Given the description of an element on the screen output the (x, y) to click on. 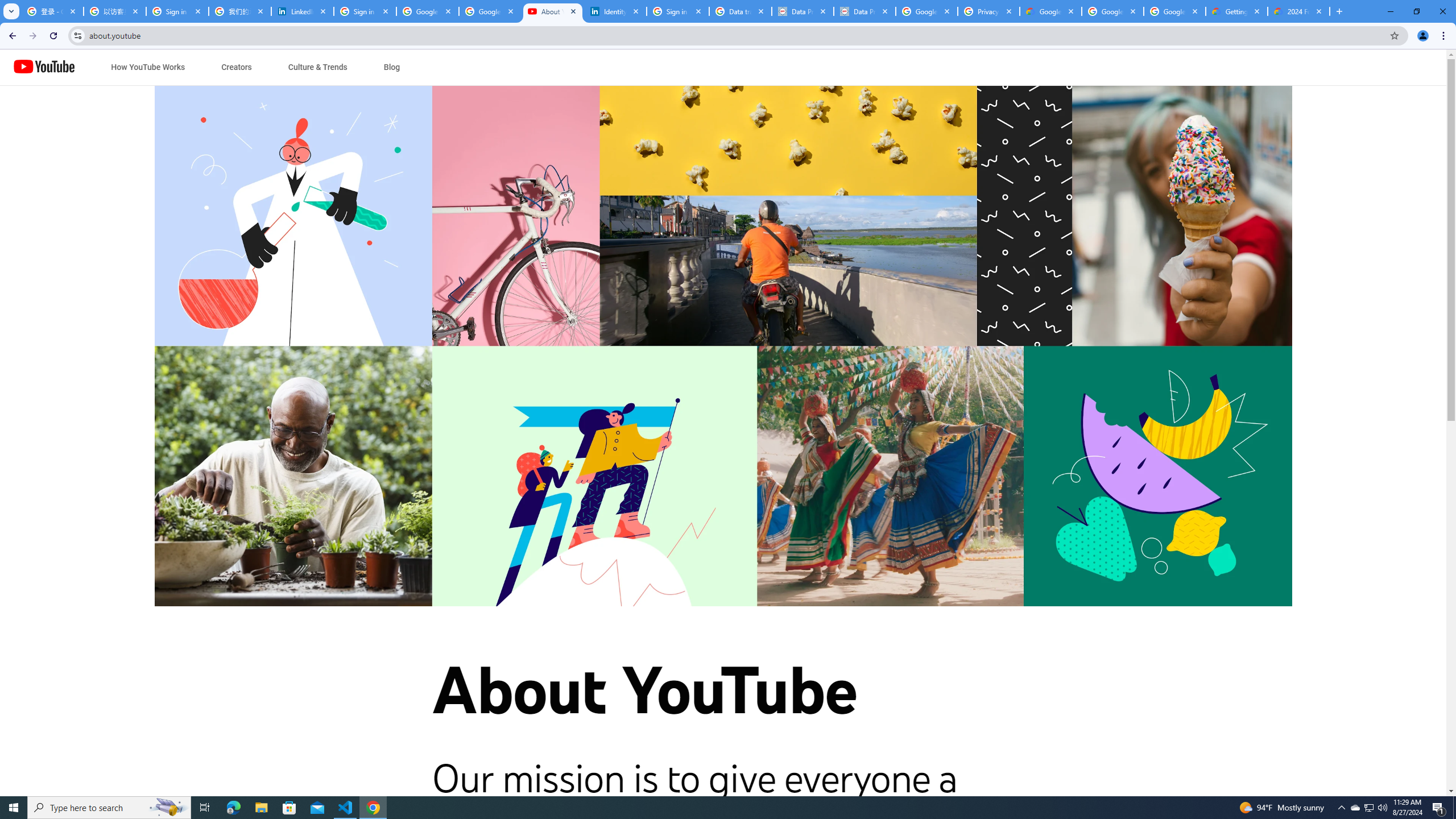
About YouTube - YouTube (552, 11)
Culture & Trends (317, 67)
Blog (391, 67)
